Given the description of an element on the screen output the (x, y) to click on. 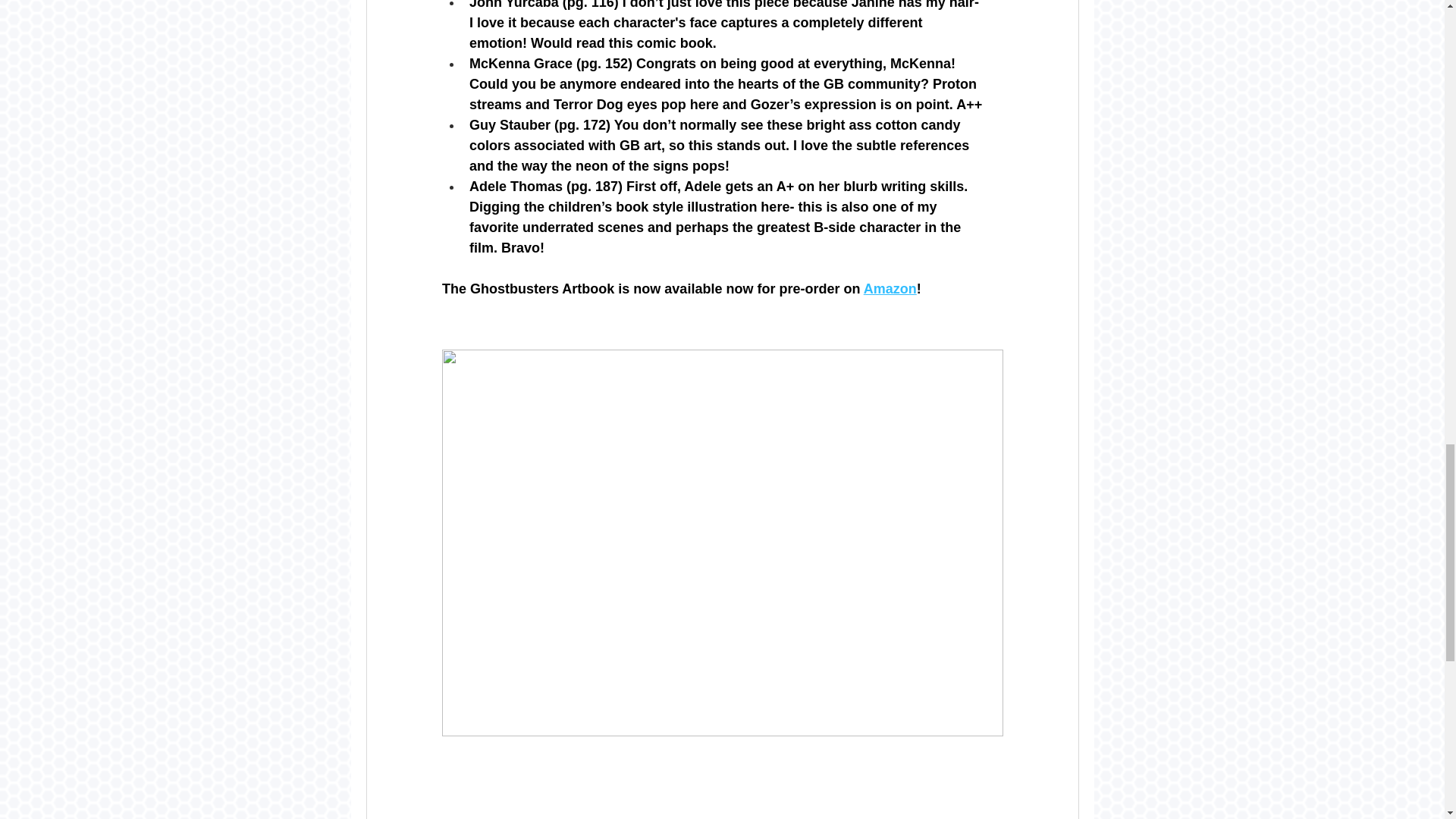
Amazon (889, 288)
